Given the description of an element on the screen output the (x, y) to click on. 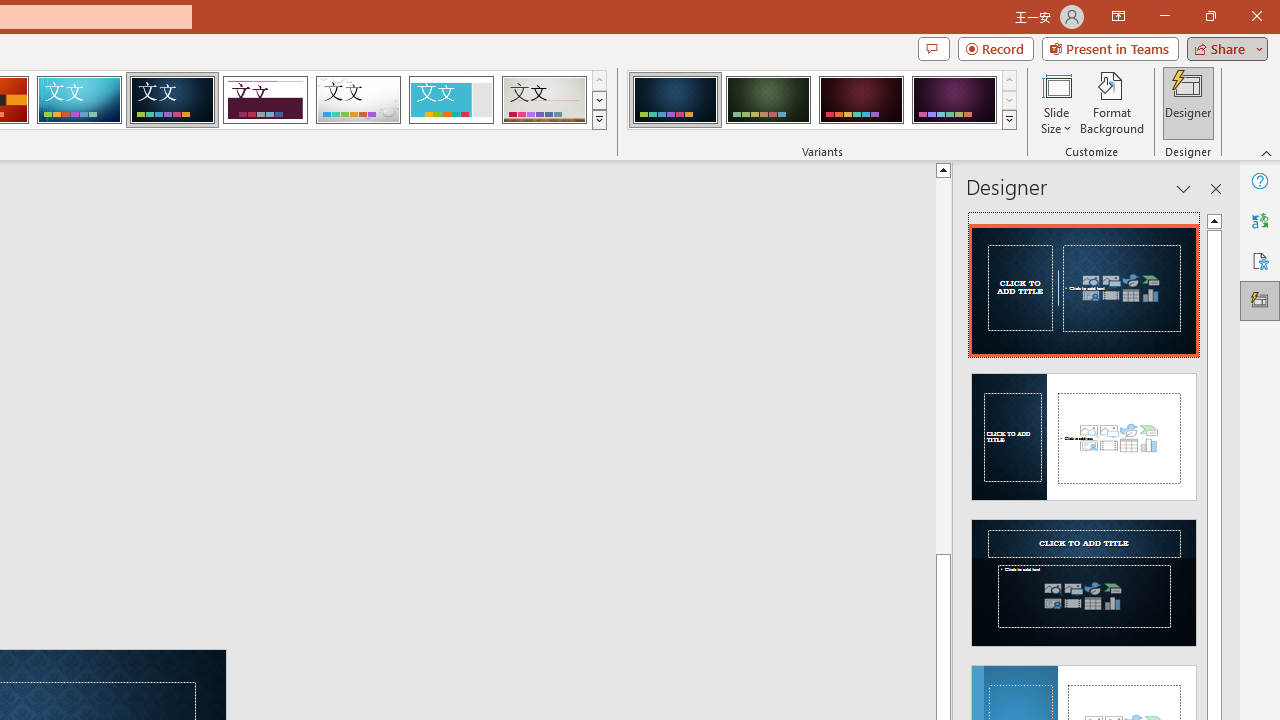
Droplet (358, 100)
Slide Size (1056, 102)
Damask Variant 3 (861, 100)
AutomationID: ThemeVariantsGallery (822, 99)
